Given the description of an element on the screen output the (x, y) to click on. 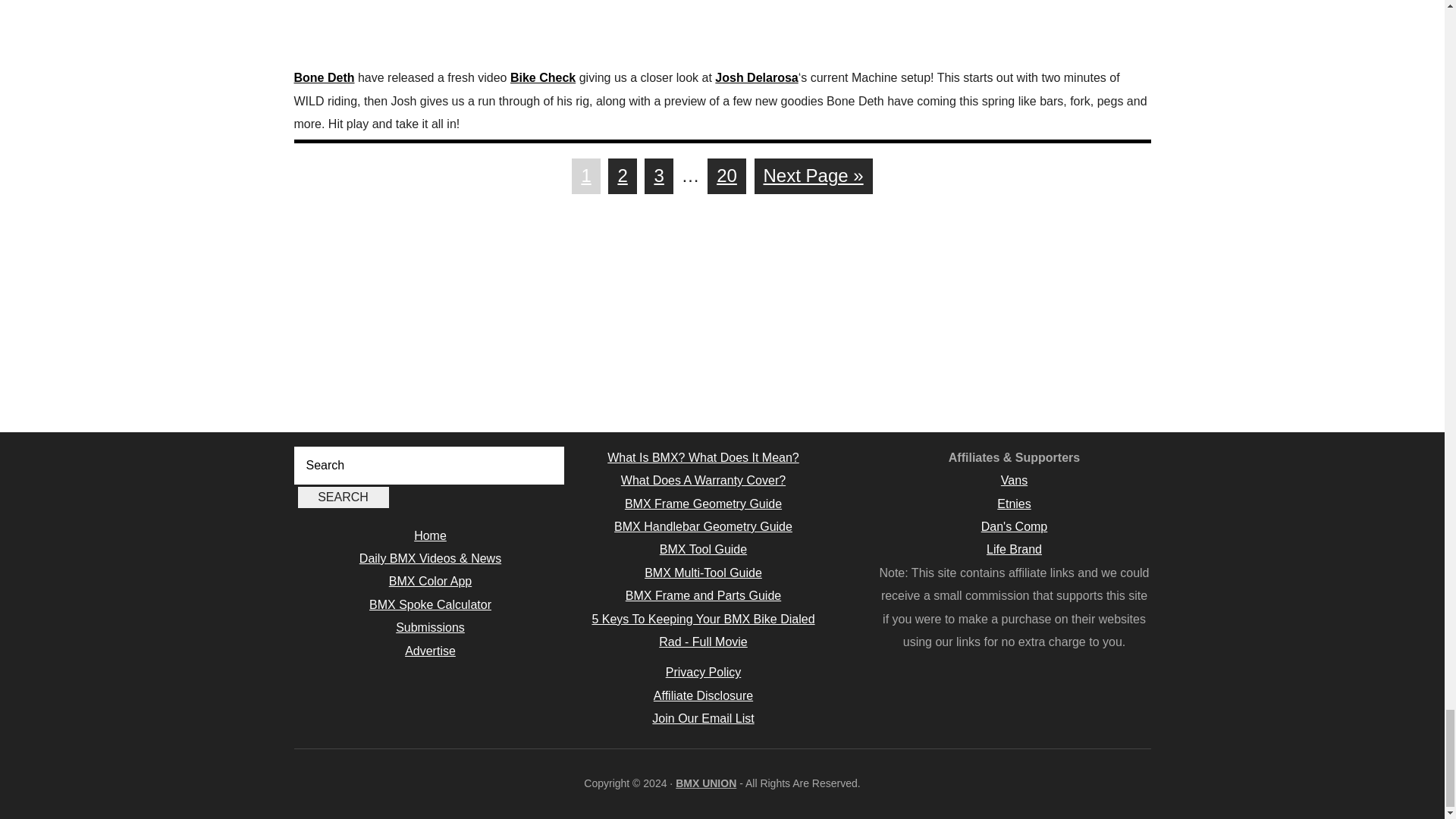
Search (342, 496)
Search (342, 496)
